Given the description of an element on the screen output the (x, y) to click on. 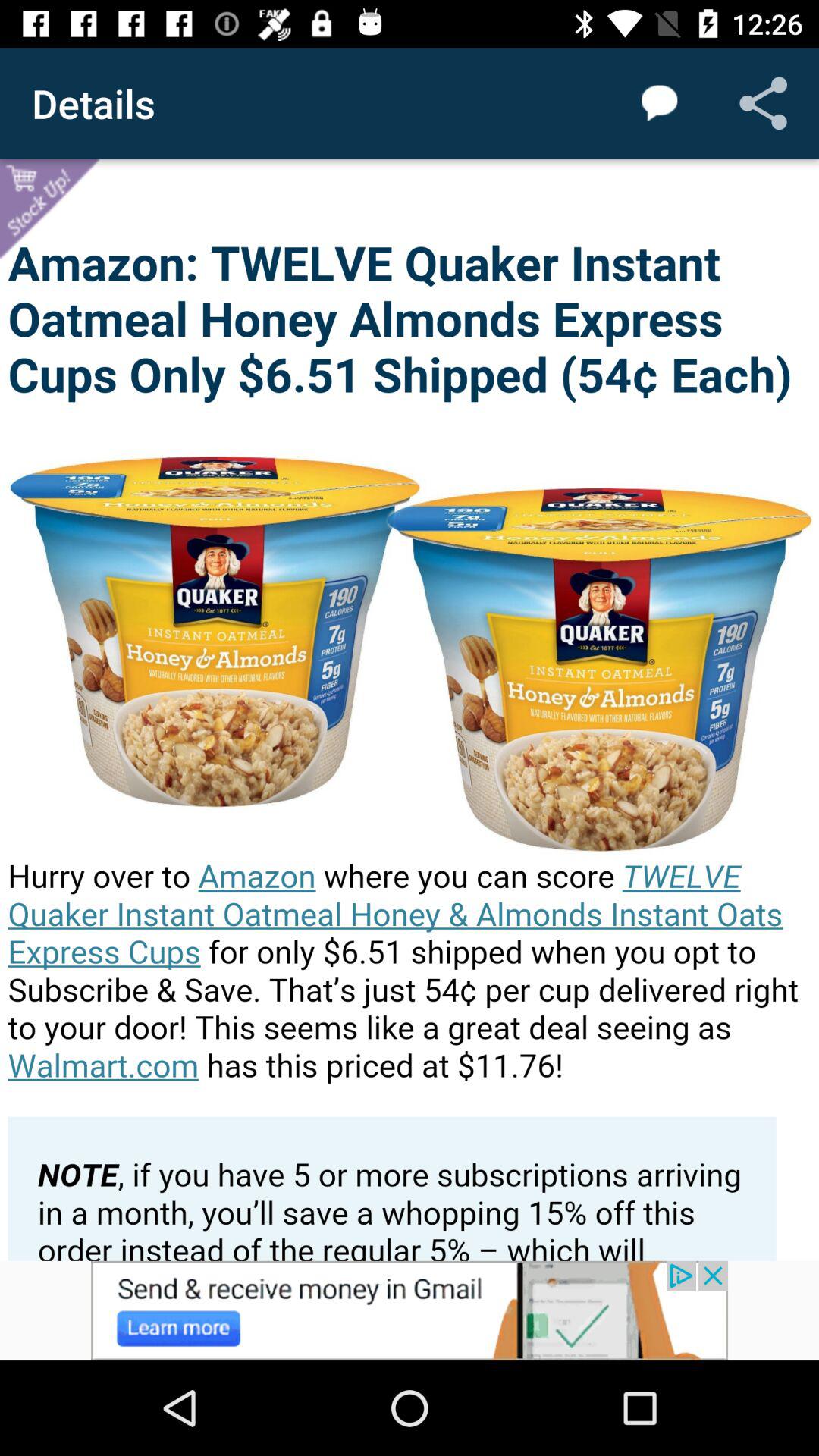
advertisement click (409, 1310)
